Given the description of an element on the screen output the (x, y) to click on. 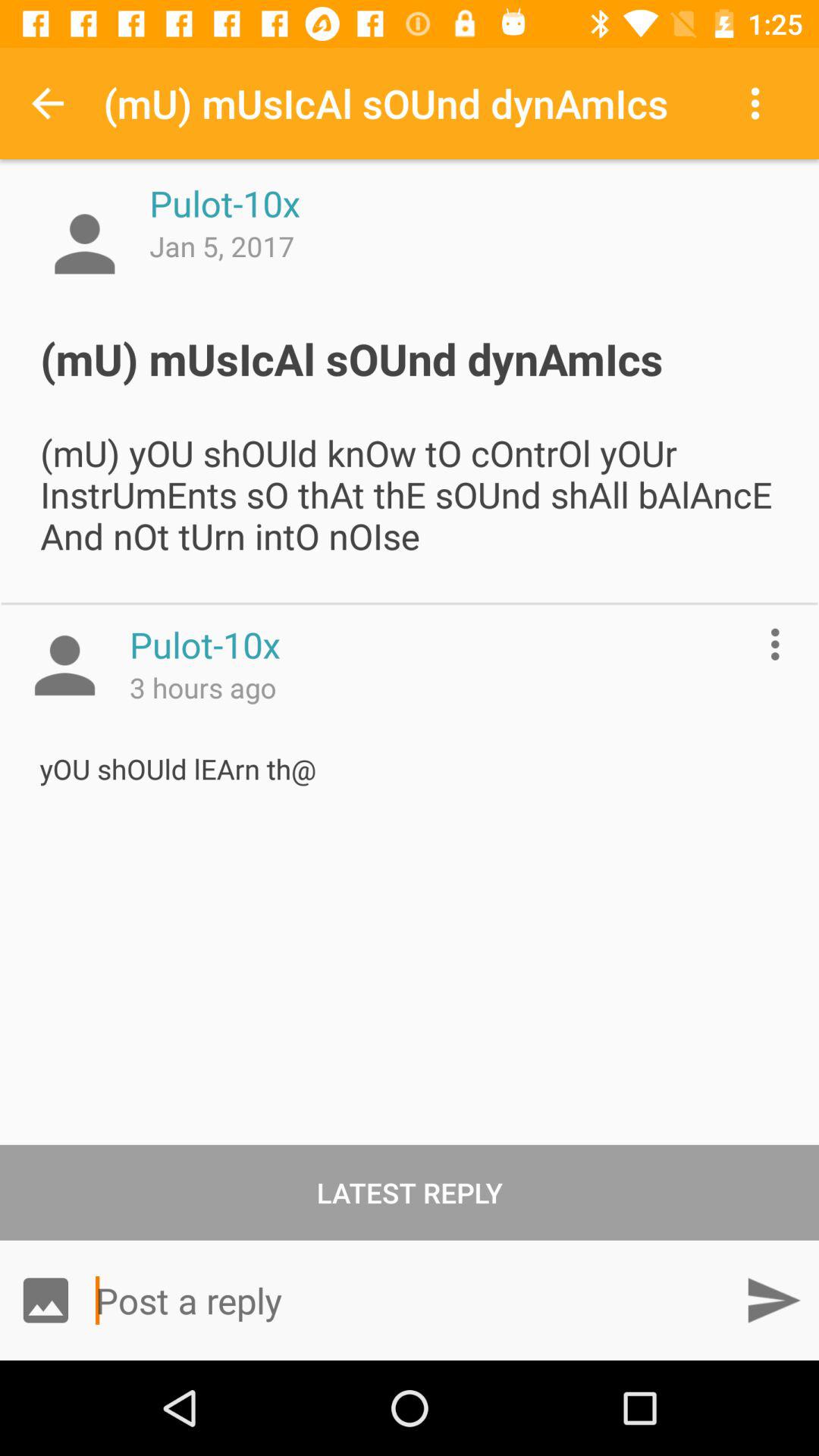
view profile (64, 665)
